Given the description of an element on the screen output the (x, y) to click on. 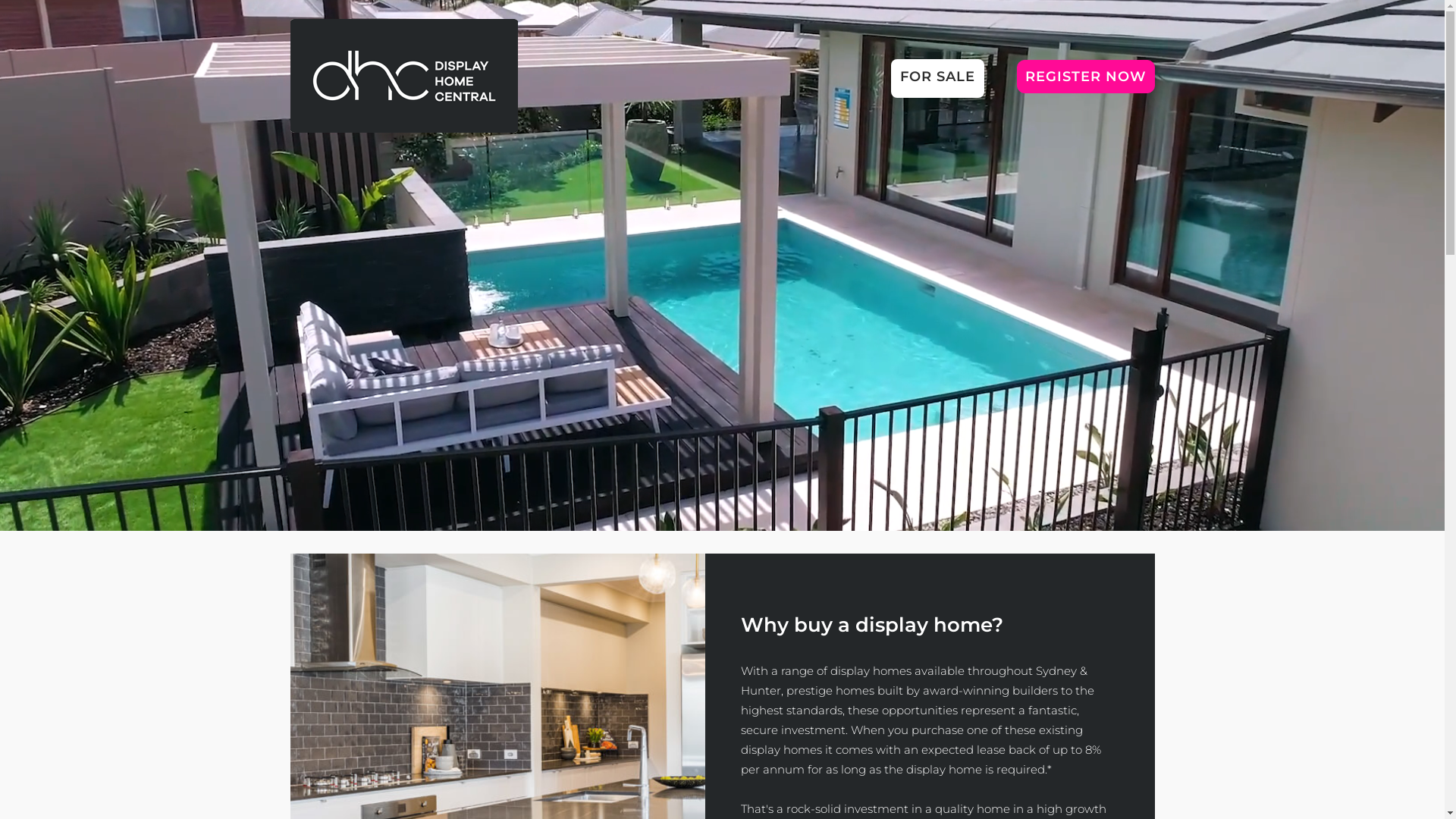
FOR SALE Element type: text (936, 78)
REGISTER NOW Element type: text (1085, 75)
